Given the description of an element on the screen output the (x, y) to click on. 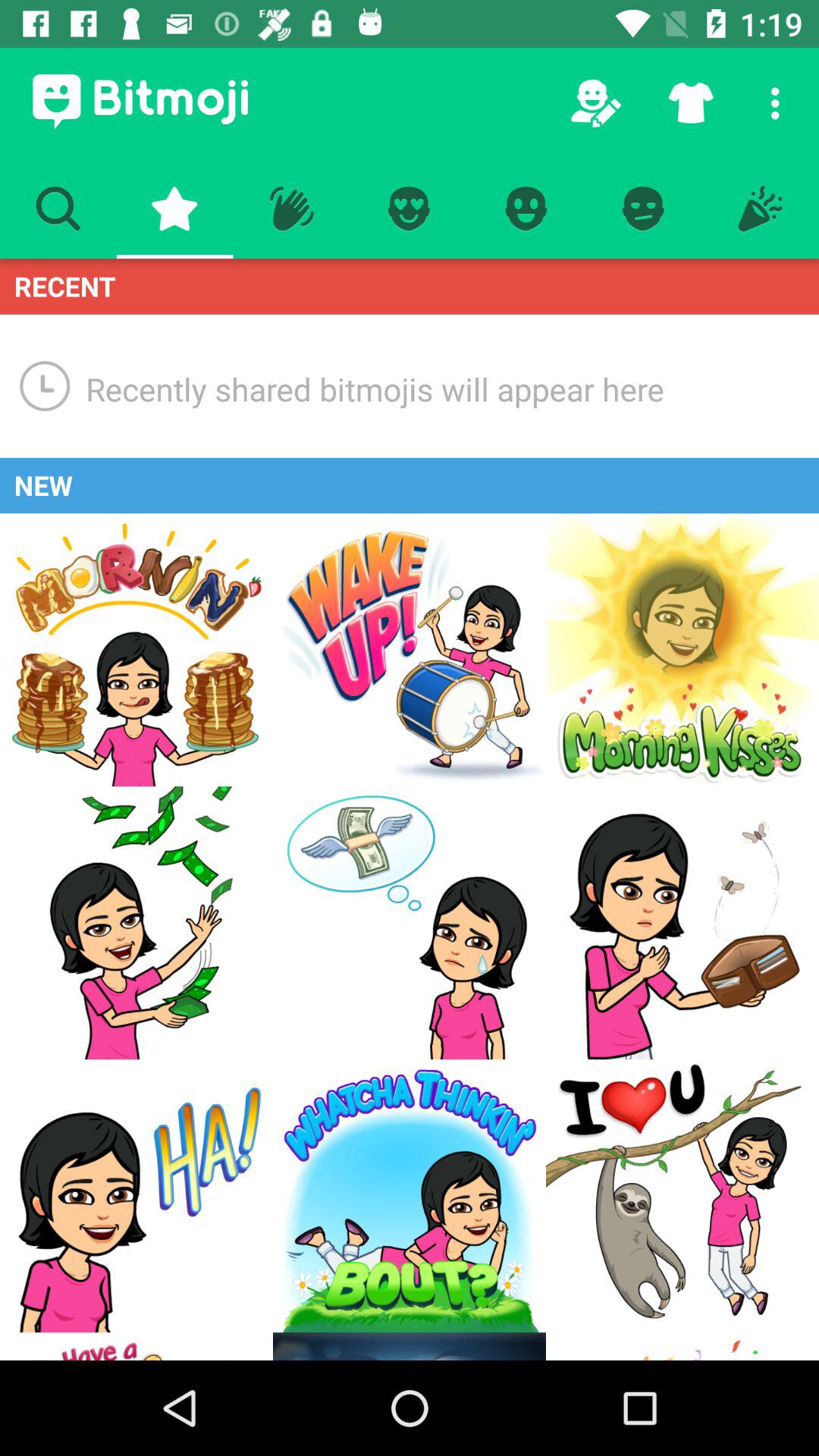
morning kisses (682, 649)
